Given the description of an element on the screen output the (x, y) to click on. 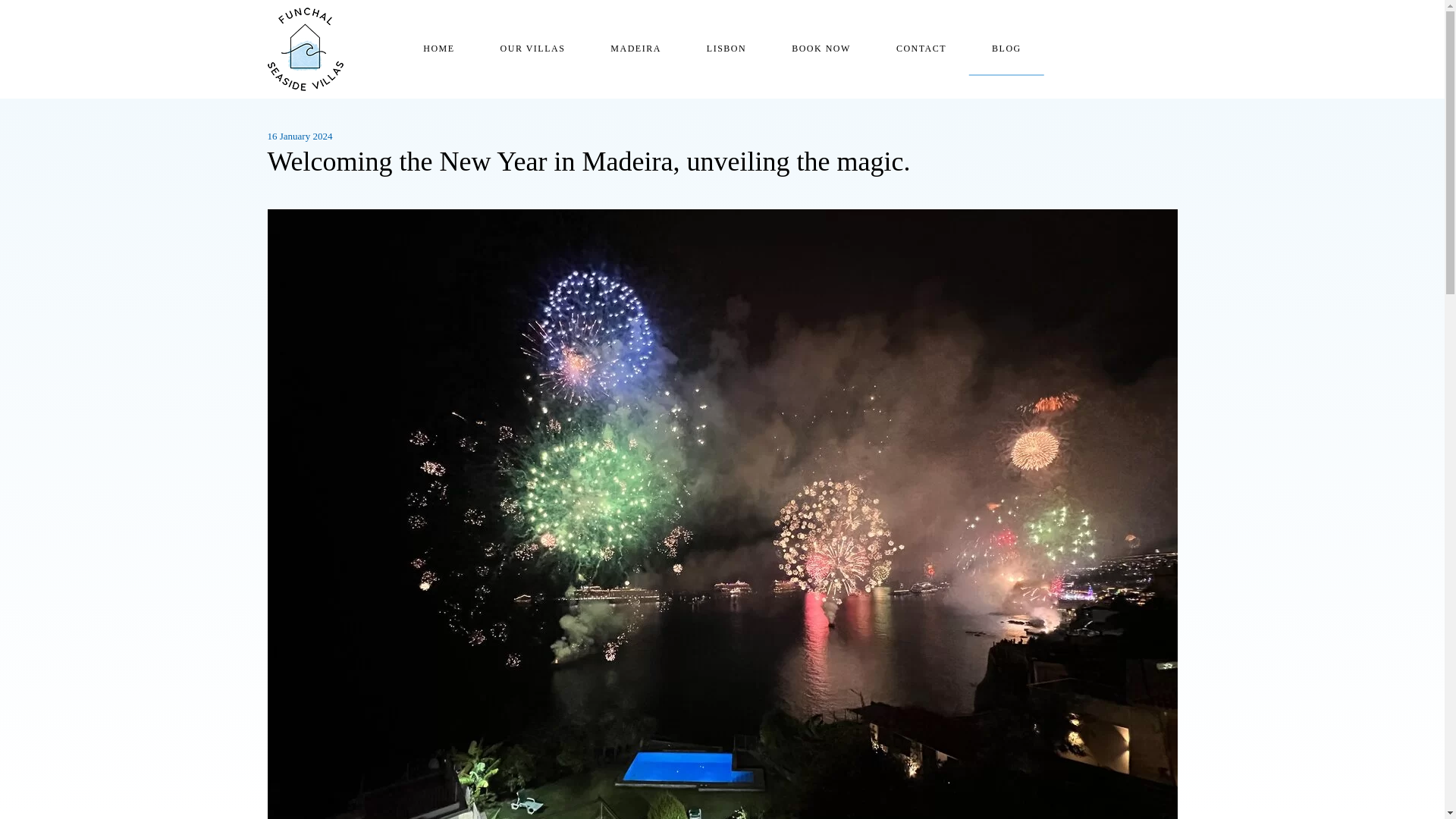
CONTACT (921, 49)
MADEIRA (636, 49)
BLOG (1006, 49)
OUR VILLAS (532, 49)
BOOK NOW (820, 49)
HOME (438, 49)
LISBON (726, 49)
Welcoming the New Year in Madeira, unveiling the magic. (721, 161)
